Given the description of an element on the screen output the (x, y) to click on. 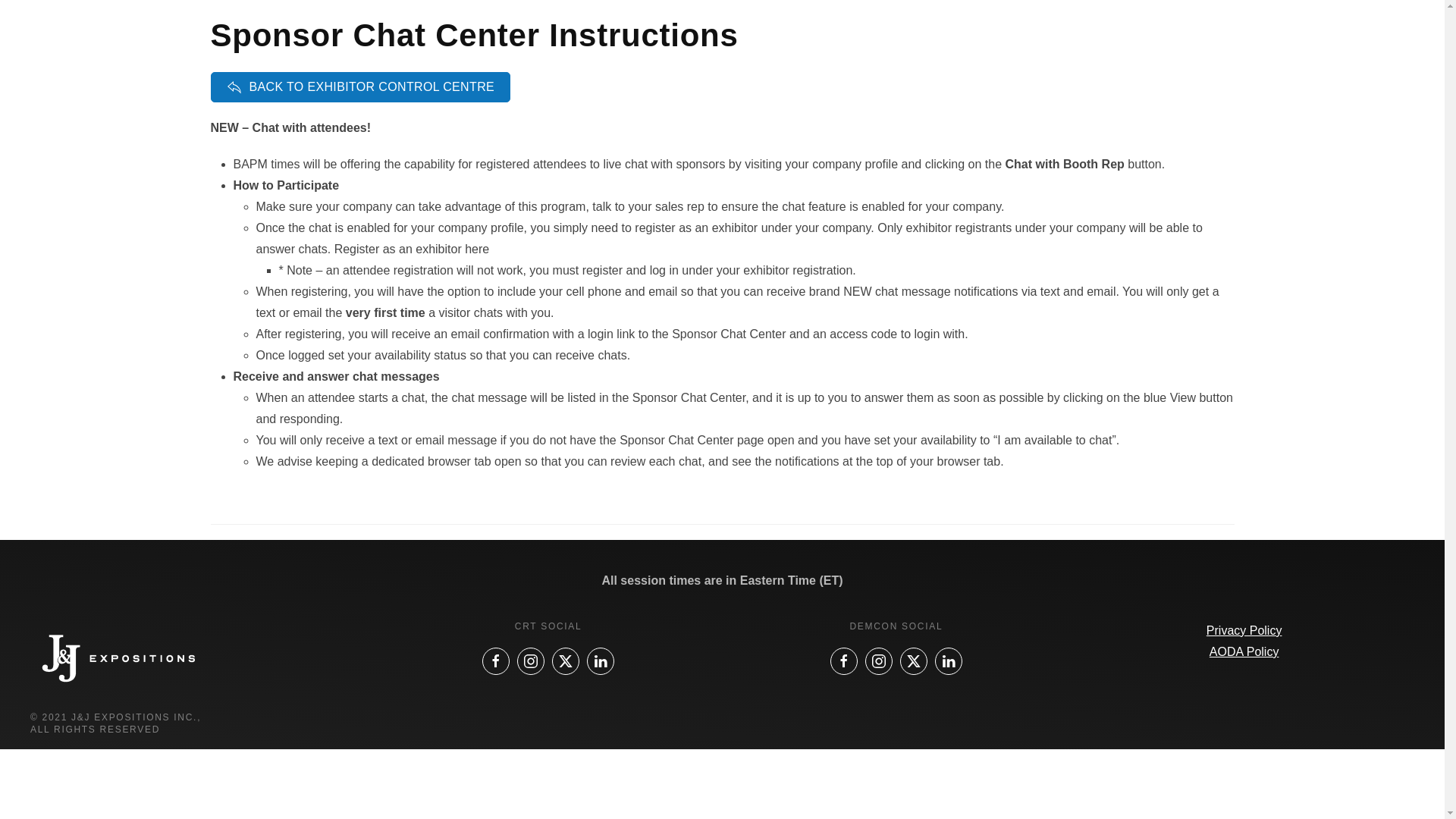
Privacy Policy (1244, 630)
AODA Policy (1244, 651)
BACK TO EXHIBITOR CONTROL CENTRE (361, 87)
